Given the description of an element on the screen output the (x, y) to click on. 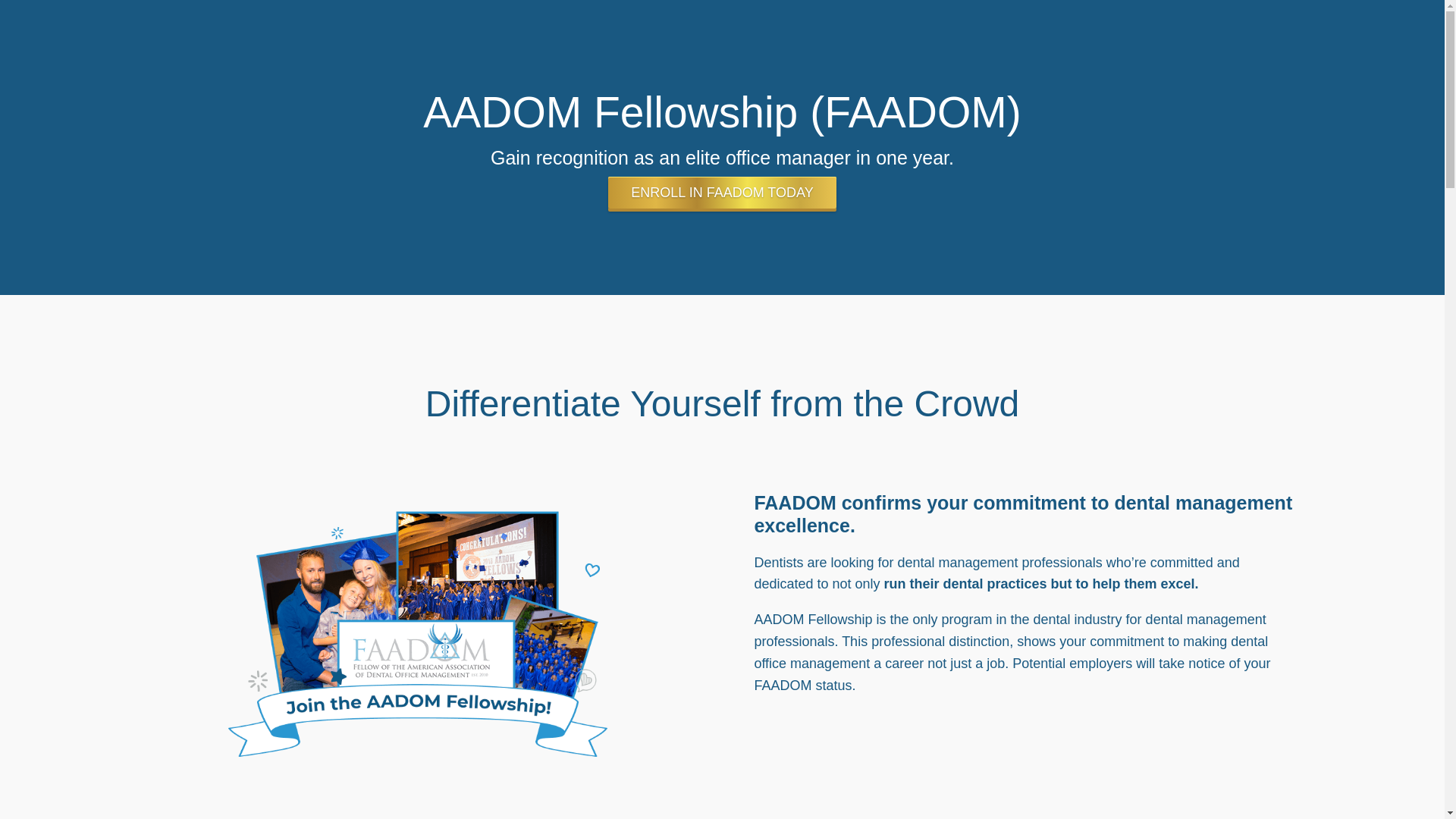
ENROLL IN FAADOM TODAY (721, 192)
Be part of the AADOM Fellowship Program! (417, 628)
